Given the description of an element on the screen output the (x, y) to click on. 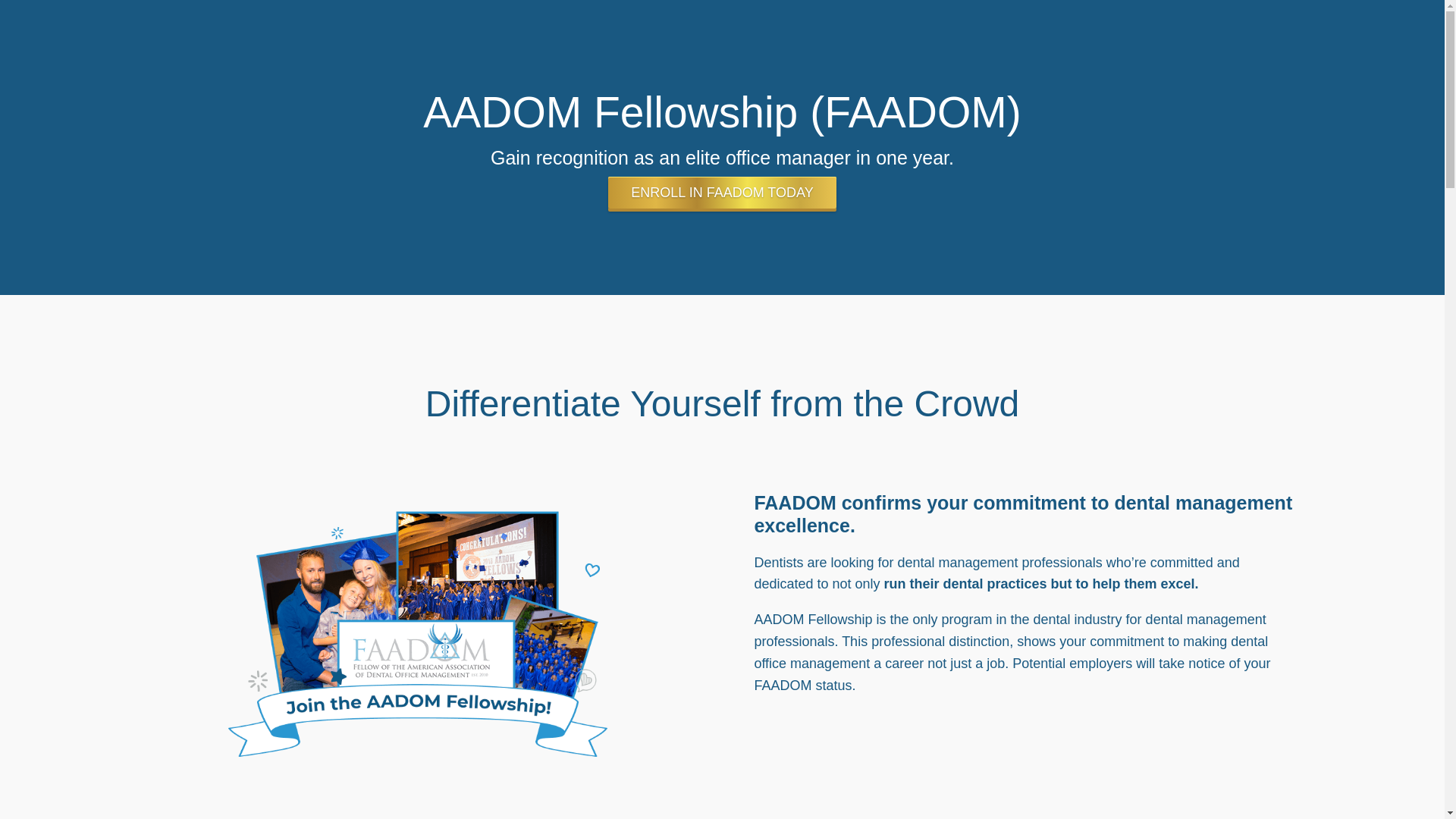
ENROLL IN FAADOM TODAY (721, 192)
Be part of the AADOM Fellowship Program! (417, 628)
